Given the description of an element on the screen output the (x, y) to click on. 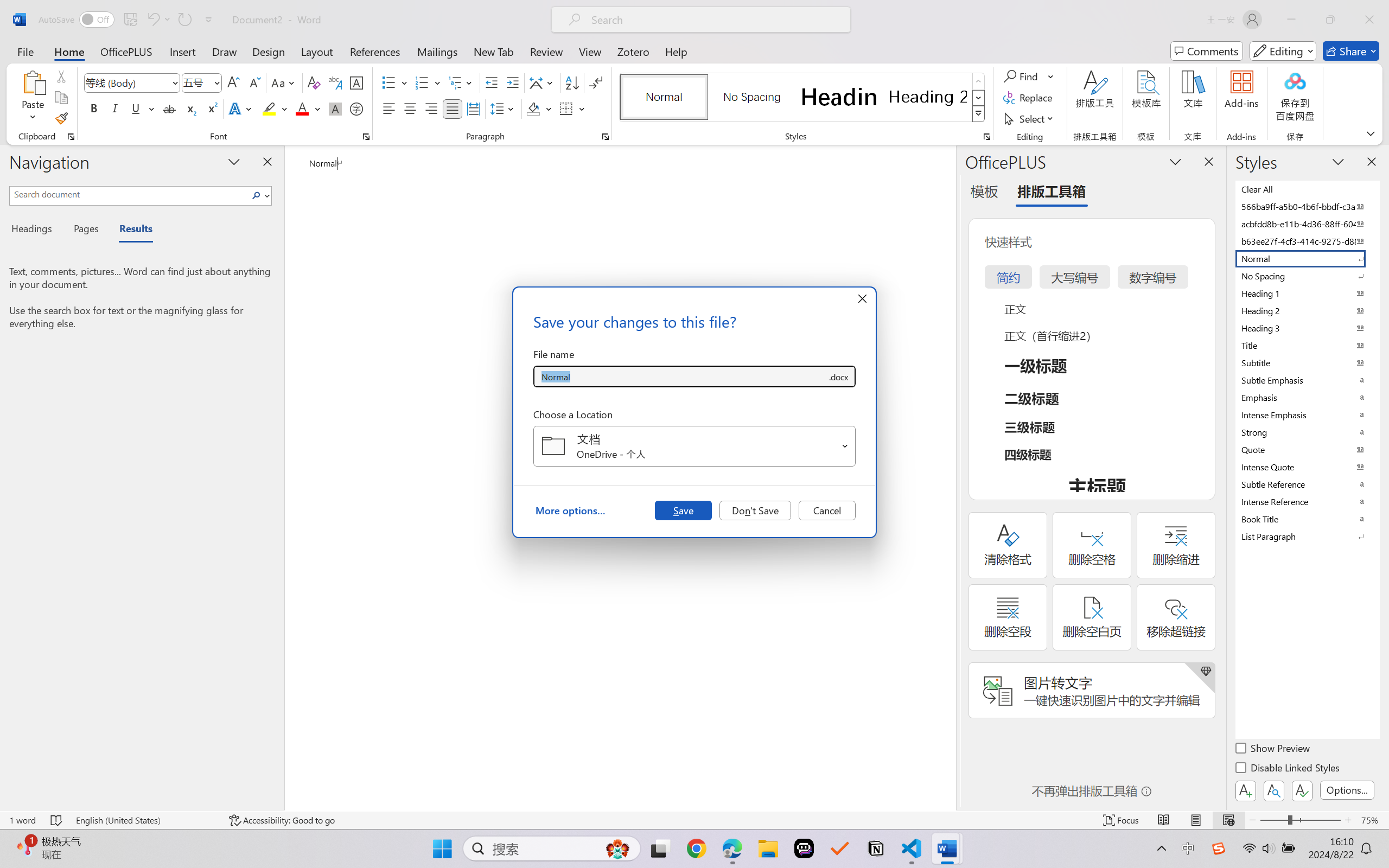
acbfdd8b-e11b-4d36-88ff-6049b138f862 (1306, 223)
No Spacing (1306, 275)
Distributed (473, 108)
Design (268, 51)
Row up (978, 81)
Emphasis (1306, 397)
Intense Emphasis (1306, 414)
Review (546, 51)
Disable Linked Styles (1287, 769)
References (375, 51)
Justify (452, 108)
